Given the description of an element on the screen output the (x, y) to click on. 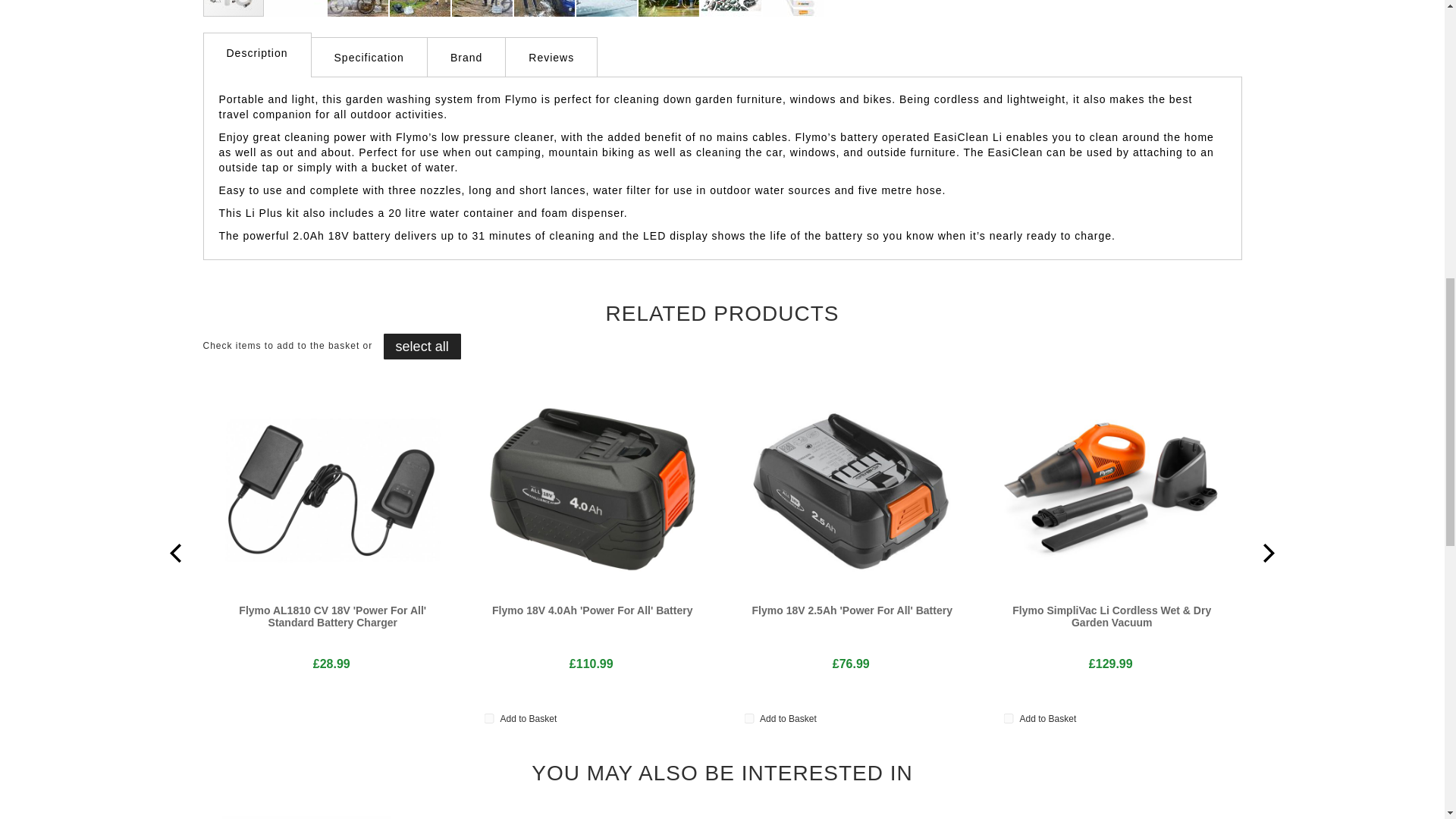
7101 (749, 718)
6559 (1008, 718)
7102 (489, 718)
